Given the description of an element on the screen output the (x, y) to click on. 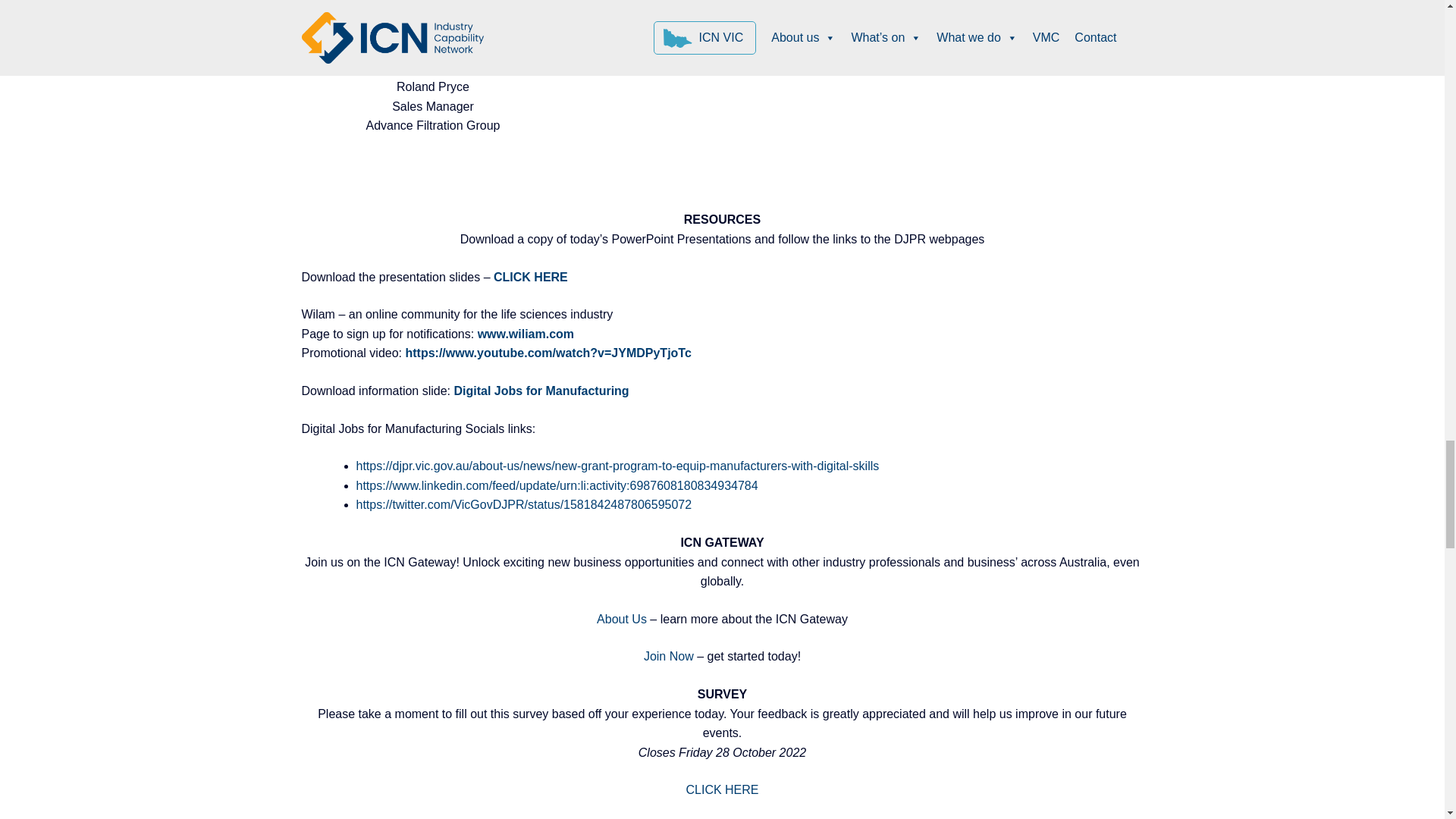
Join Now (668, 656)
Digital Jobs for Manufacturing (540, 390)
CLICK HERE (721, 789)
CLICK HERE  (531, 277)
About Us (621, 618)
www.wiliam.com (525, 333)
